Given the description of an element on the screen output the (x, y) to click on. 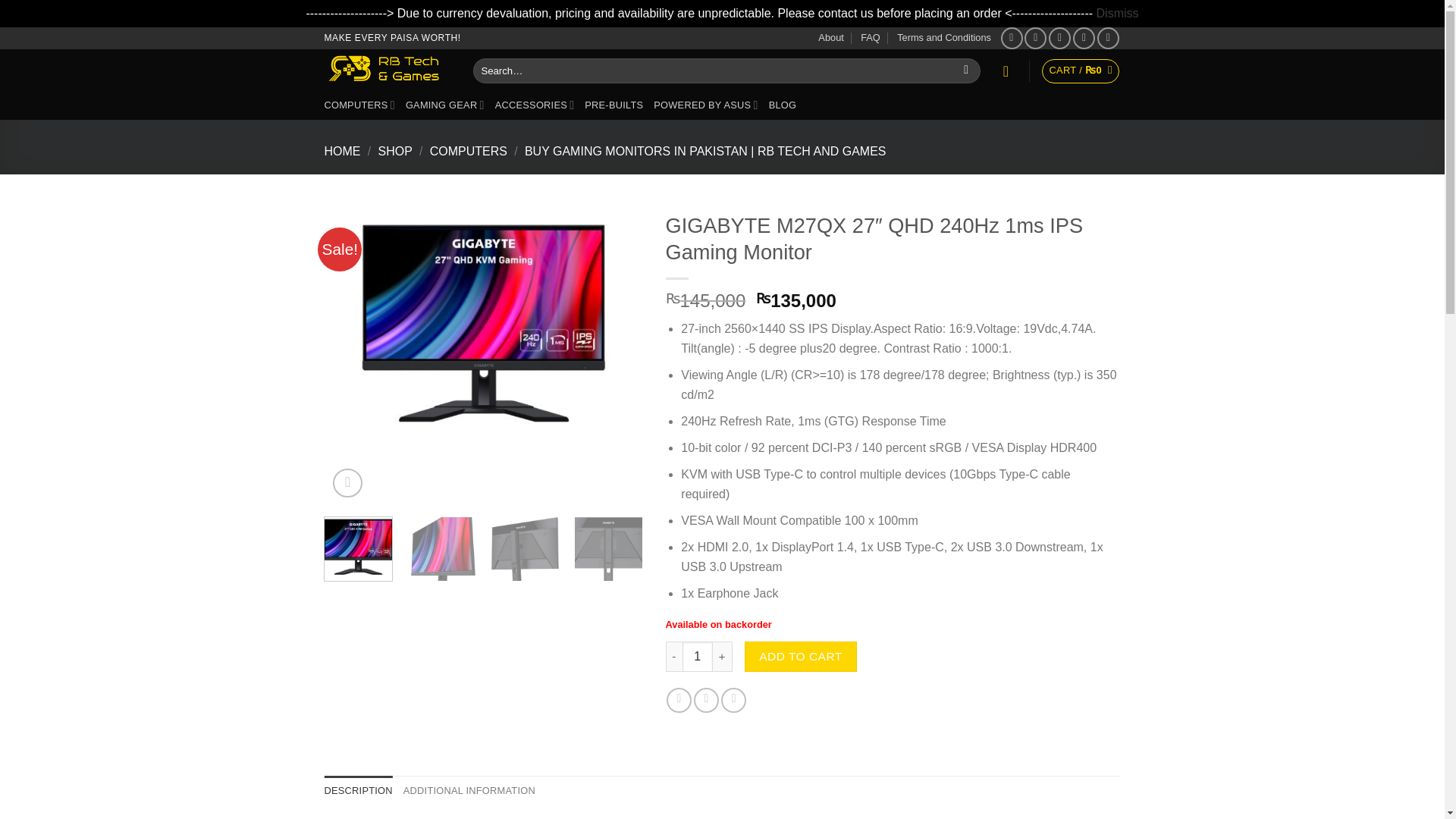
Email to a Friend (732, 699)
Share on Facebook (678, 699)
GAMING GEAR (445, 104)
About (830, 37)
Follow on Instagram (1035, 38)
COMPUTERS (359, 104)
Follow on Twitter (1059, 38)
1 (697, 656)
- (673, 656)
Cart (1080, 70)
Send us an email (1083, 38)
Search (965, 71)
Share on Twitter (706, 699)
Terms and Conditions (943, 37)
